Given the description of an element on the screen output the (x, y) to click on. 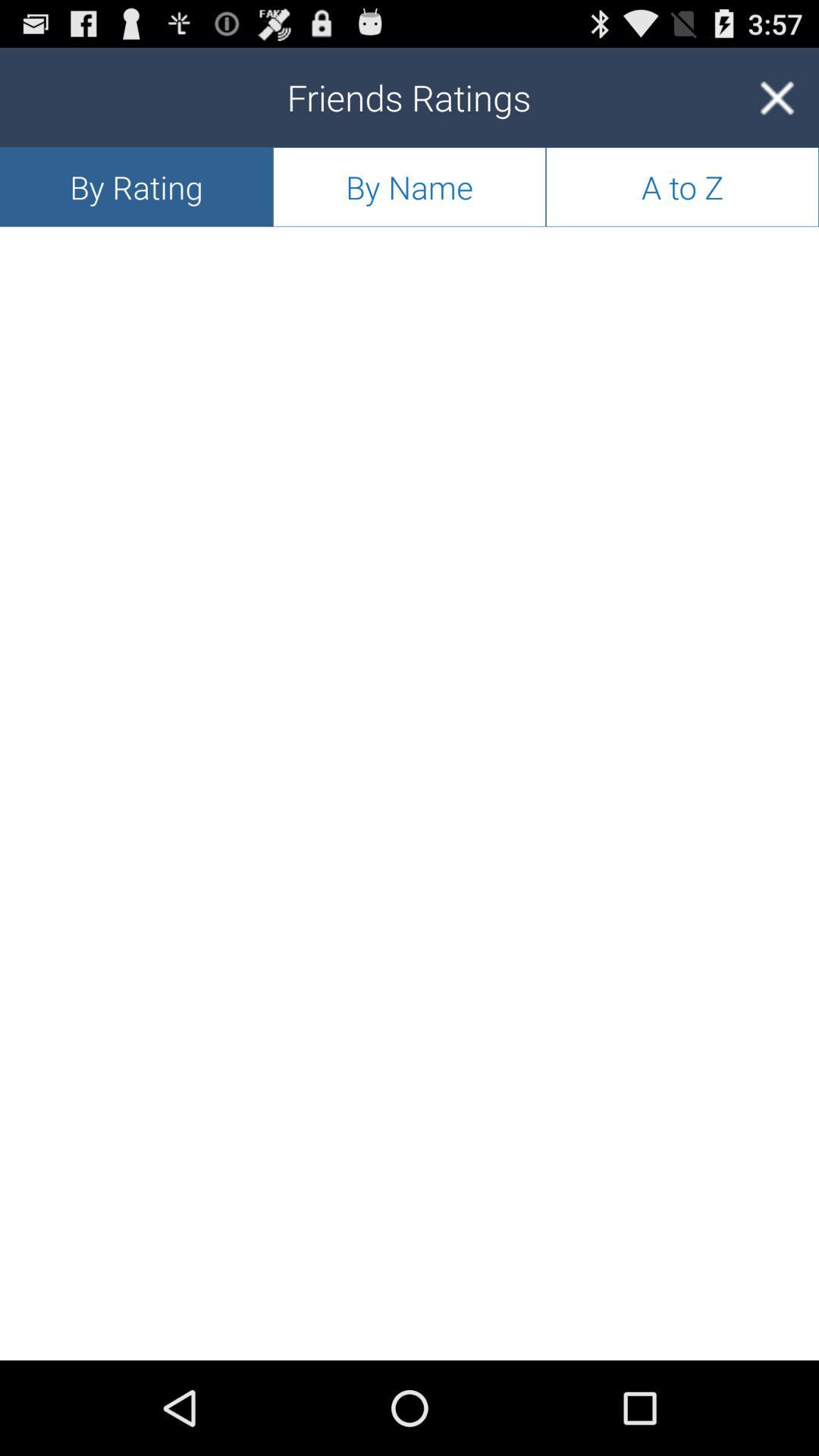
launch the icon at the top left corner (136, 186)
